Given the description of an element on the screen output the (x, y) to click on. 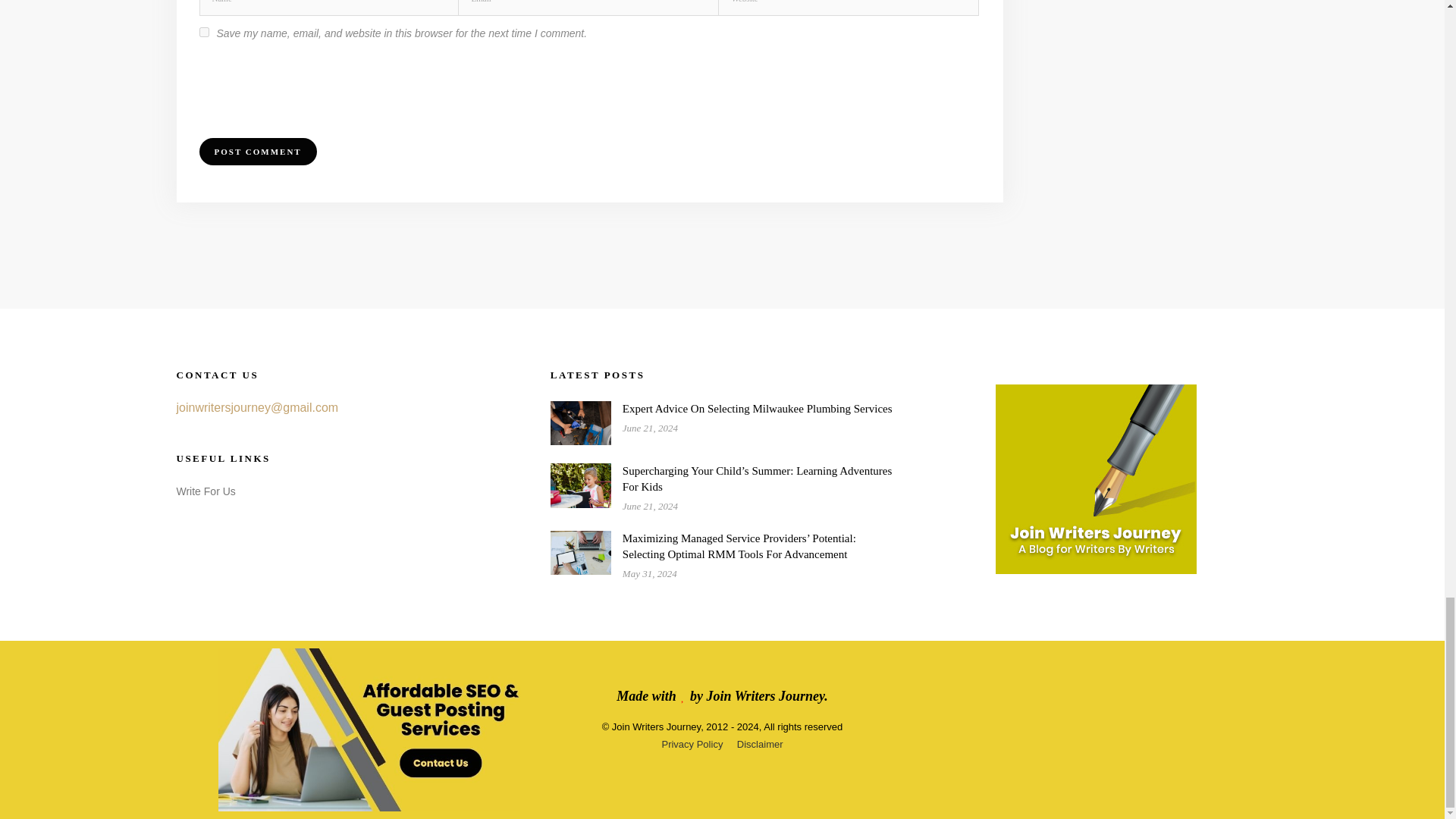
Post Comment (256, 151)
reCAPTCHA (313, 84)
yes (203, 31)
